Given the description of an element on the screen output the (x, y) to click on. 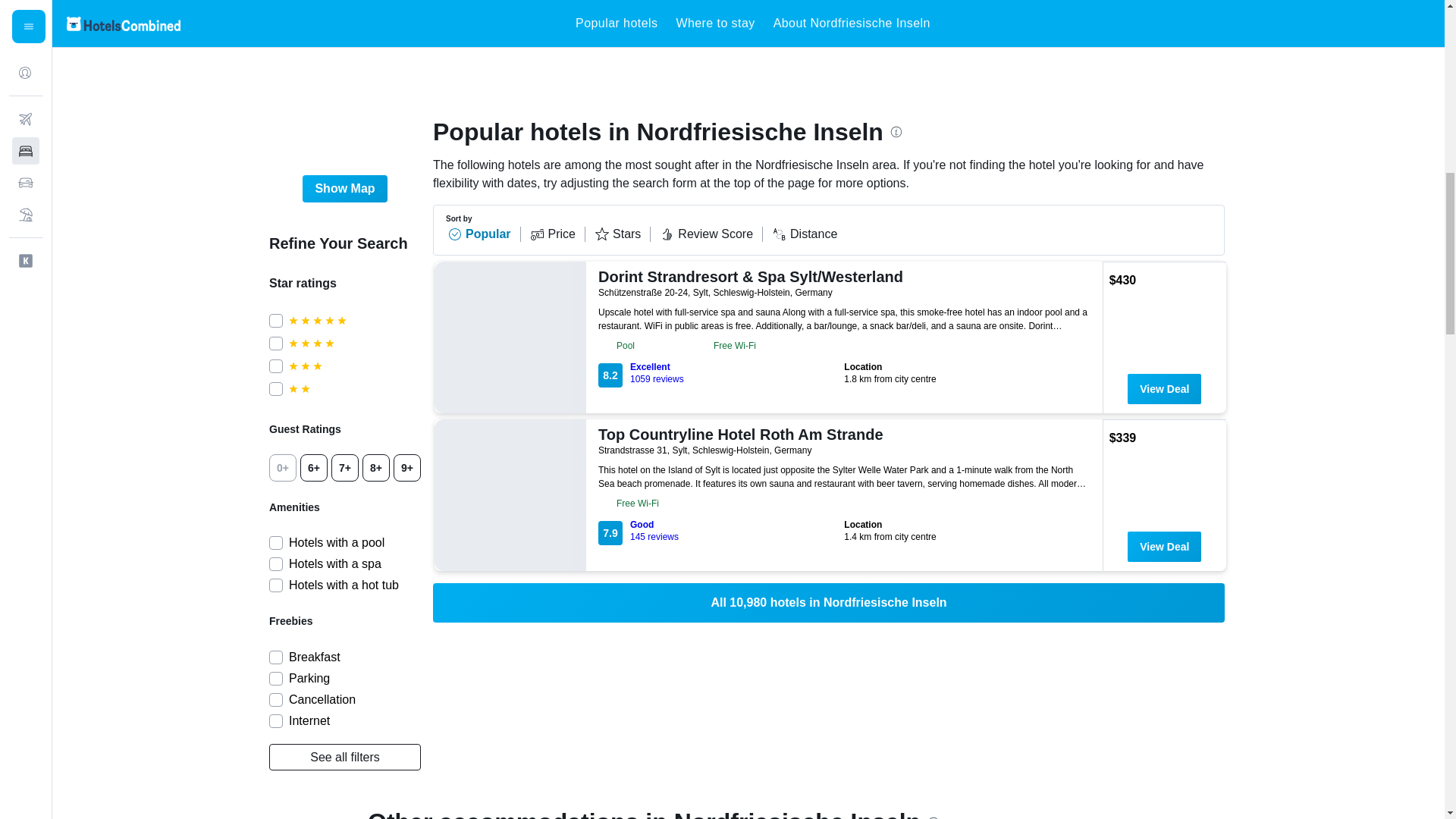
3 stars (354, 366)
Home (373, 22)
4 stars (721, 373)
2 stars (354, 343)
Germany Hotels (354, 388)
Stars (437, 22)
Schleswig-Holstein Hotels (622, 233)
Distance (575, 22)
Show Map (804, 233)
Price (344, 188)
See all filters (557, 233)
Review Score (344, 757)
5 stars (710, 233)
